Given the description of an element on the screen output the (x, y) to click on. 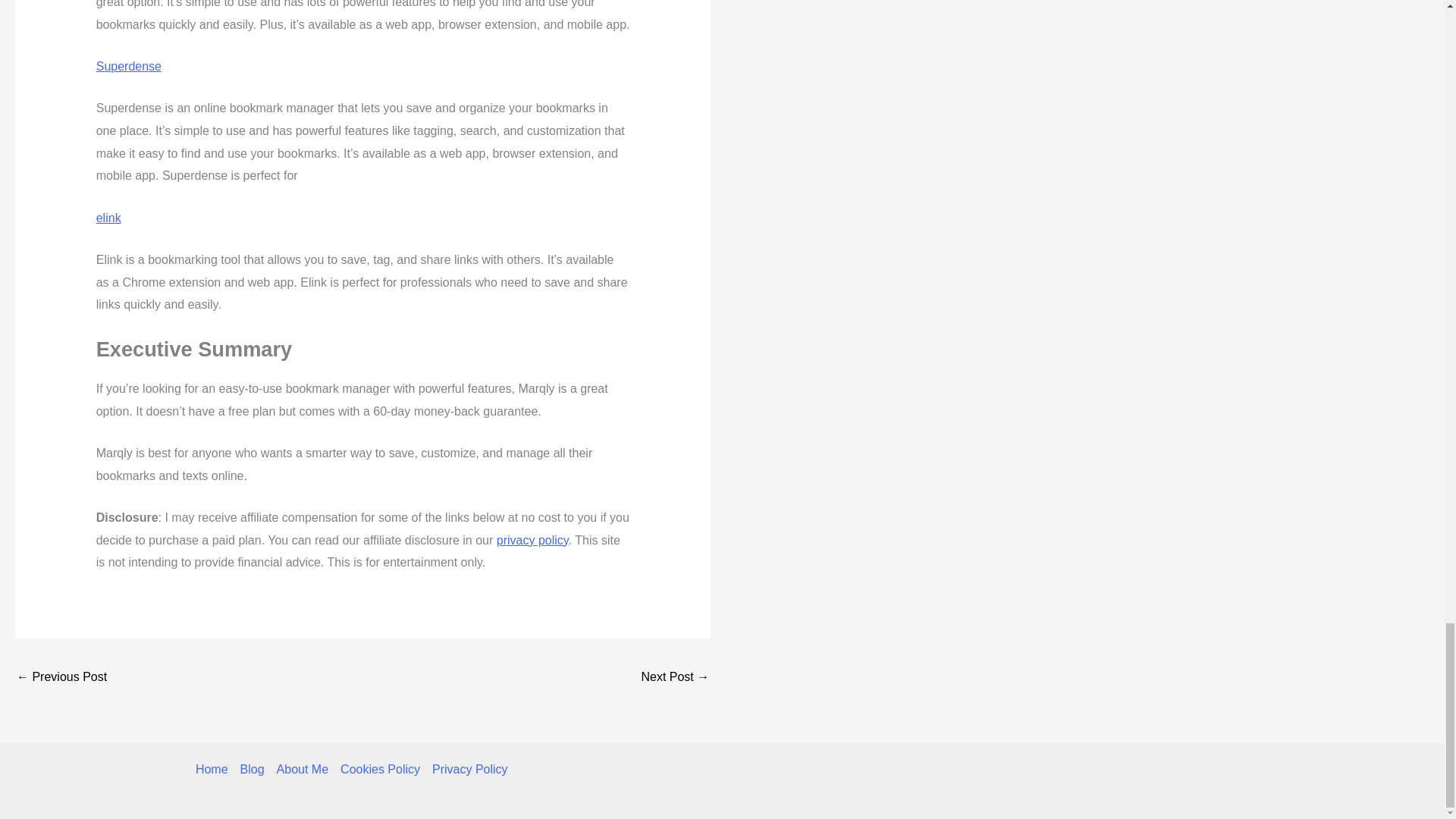
Blog (252, 769)
Privacy Policy (467, 769)
privacy policy (532, 540)
About Me (302, 769)
Cookies Policy (380, 769)
elink (108, 217)
Superdense (128, 65)
Home (214, 769)
